Given the description of an element on the screen output the (x, y) to click on. 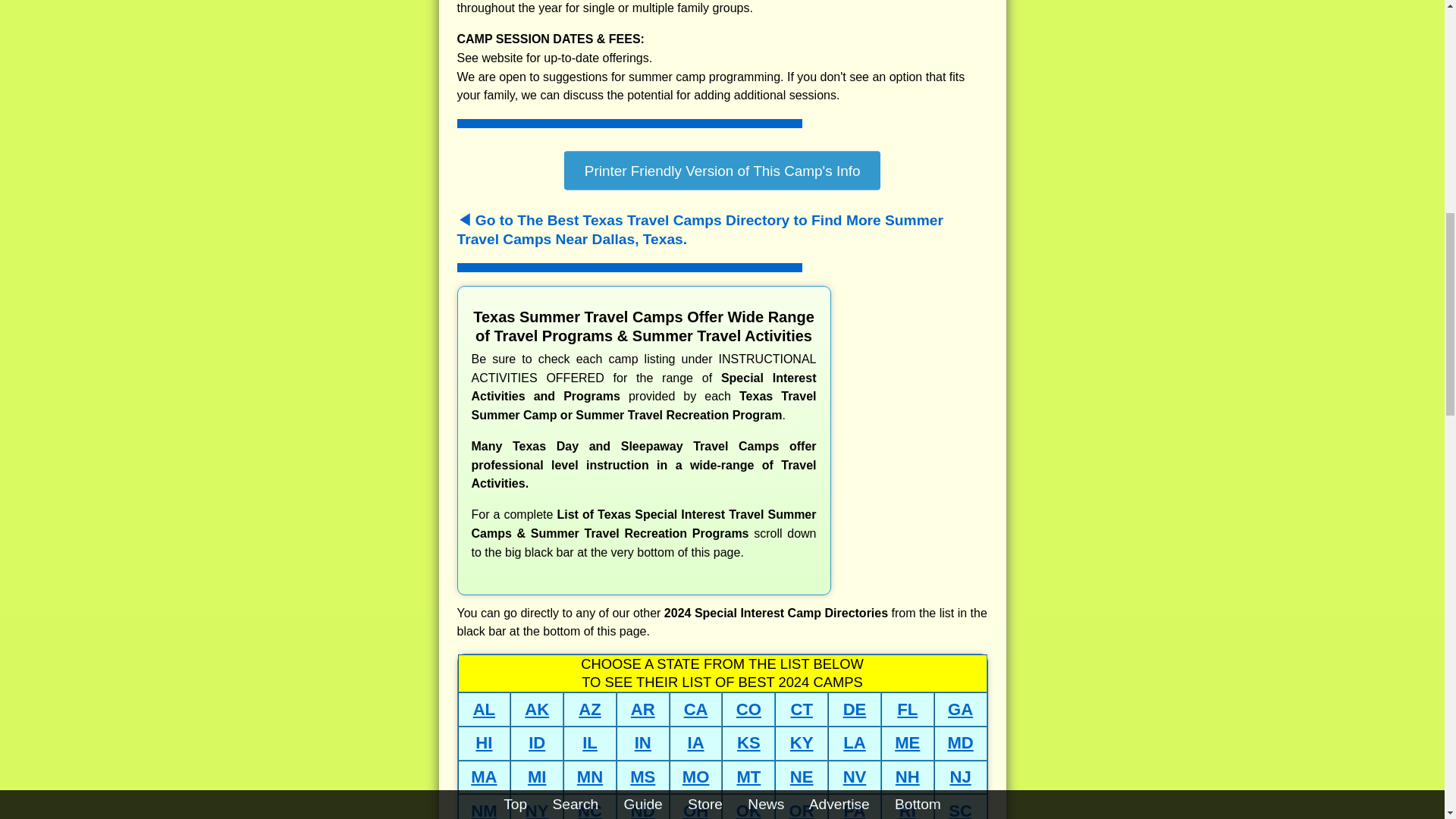
CO (748, 709)
MA (483, 776)
AL (484, 709)
KY (801, 742)
CA (695, 709)
AZ (588, 709)
MT (748, 776)
MD (959, 742)
FL (906, 709)
LA (853, 742)
MO (696, 776)
ME (907, 742)
KS (748, 742)
DE (854, 709)
